Given the description of an element on the screen output the (x, y) to click on. 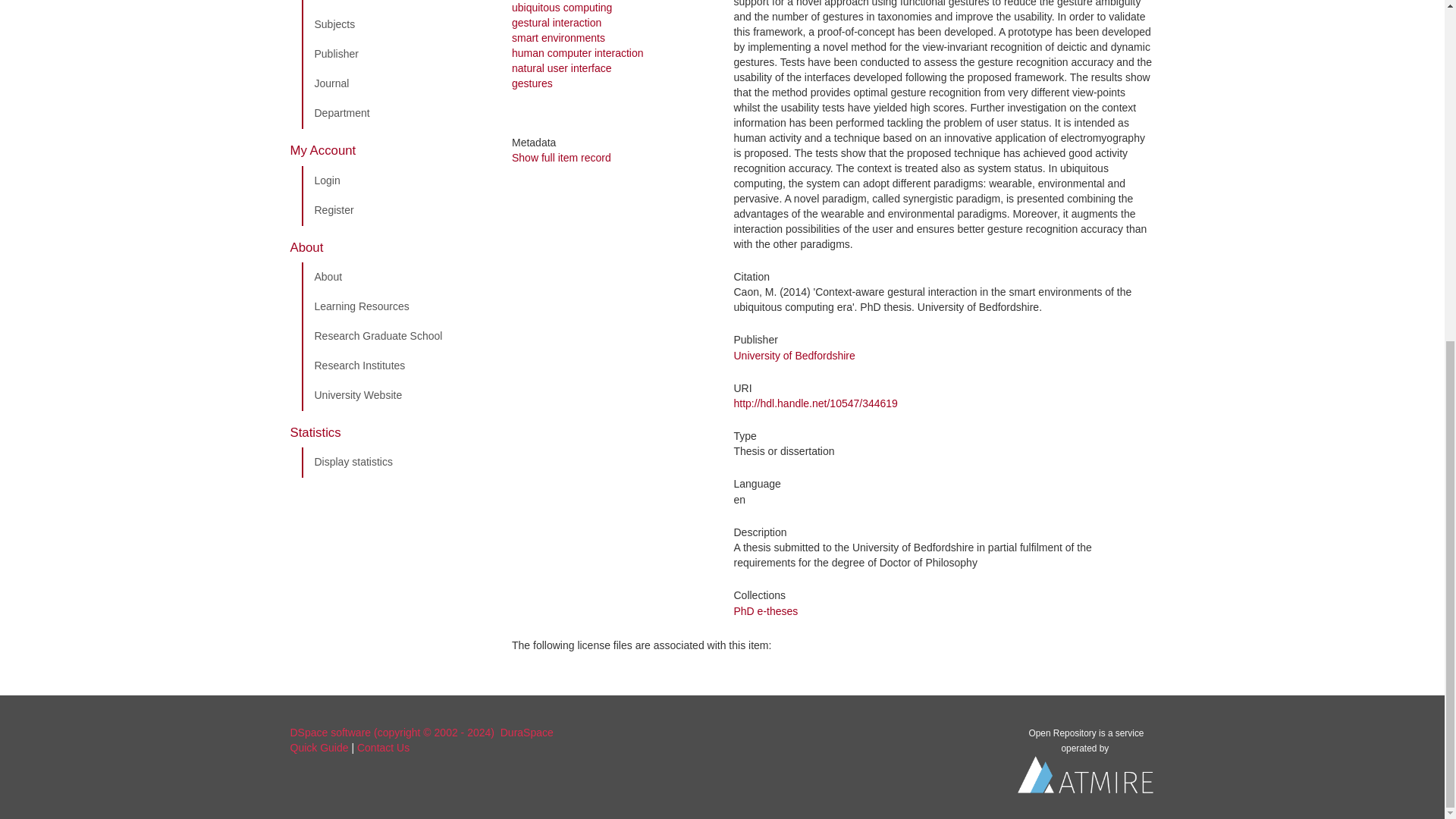
Display statistics (395, 462)
Research Institutes (395, 366)
Publisher (395, 54)
Research Graduate School (395, 336)
Atmire NV (1085, 778)
Learning Resources (395, 306)
Journal (395, 83)
About (395, 277)
Department (395, 113)
Register (395, 210)
